Given the description of an element on the screen output the (x, y) to click on. 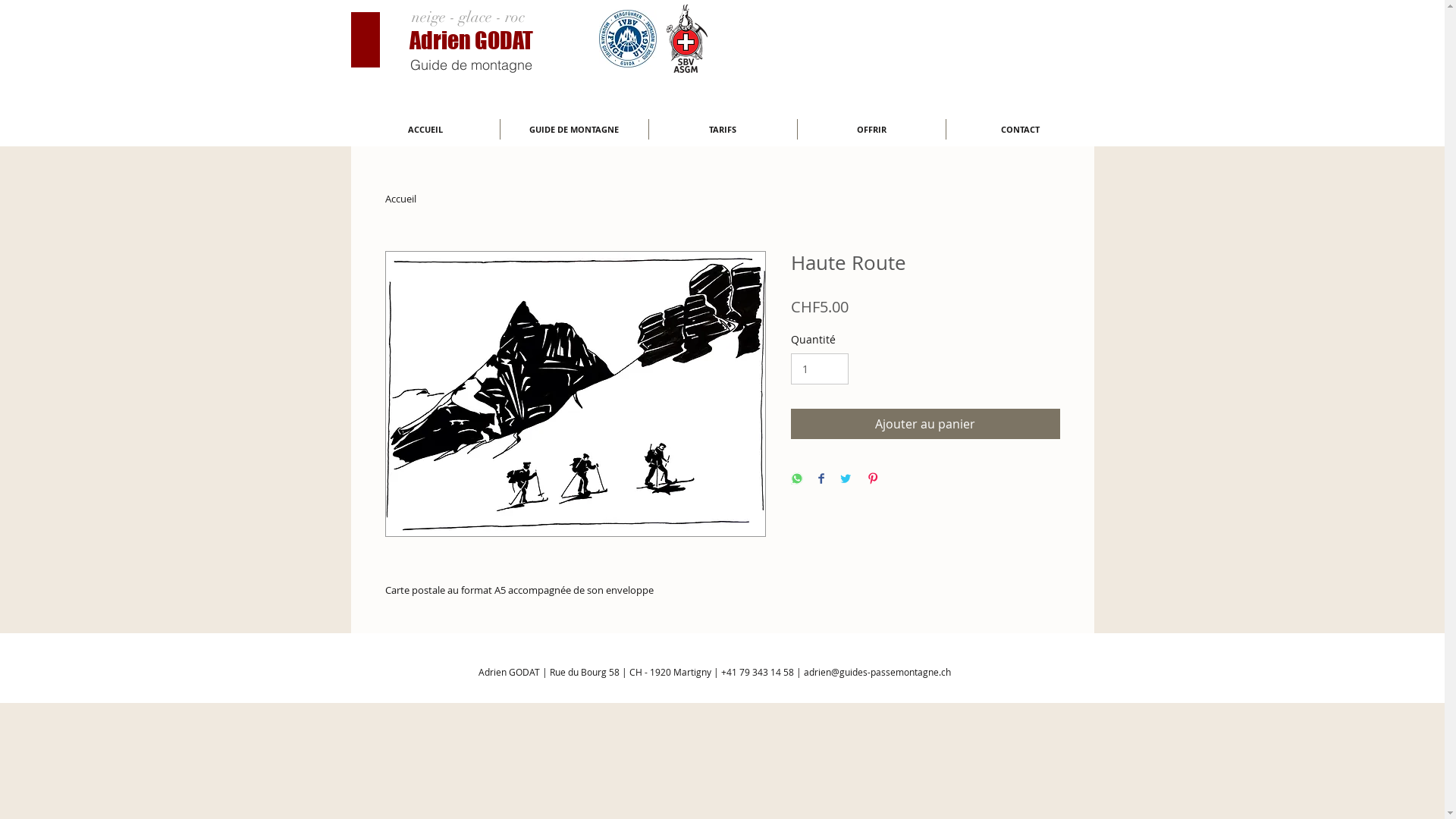
OFFRIR Element type: text (871, 129)
TARIFS Element type: text (723, 129)
CONTACT Element type: text (1020, 129)
Accueil Element type: text (400, 198)
Ajouter au panier Element type: text (924, 423)
ACCUEIL Element type: text (424, 129)
adrien@guides-passemontagne.ch Element type: text (876, 671)
GUIDE DE MONTAGNE Element type: text (574, 129)
Adrien GODAT Element type: text (471, 40)
